Given the description of an element on the screen output the (x, y) to click on. 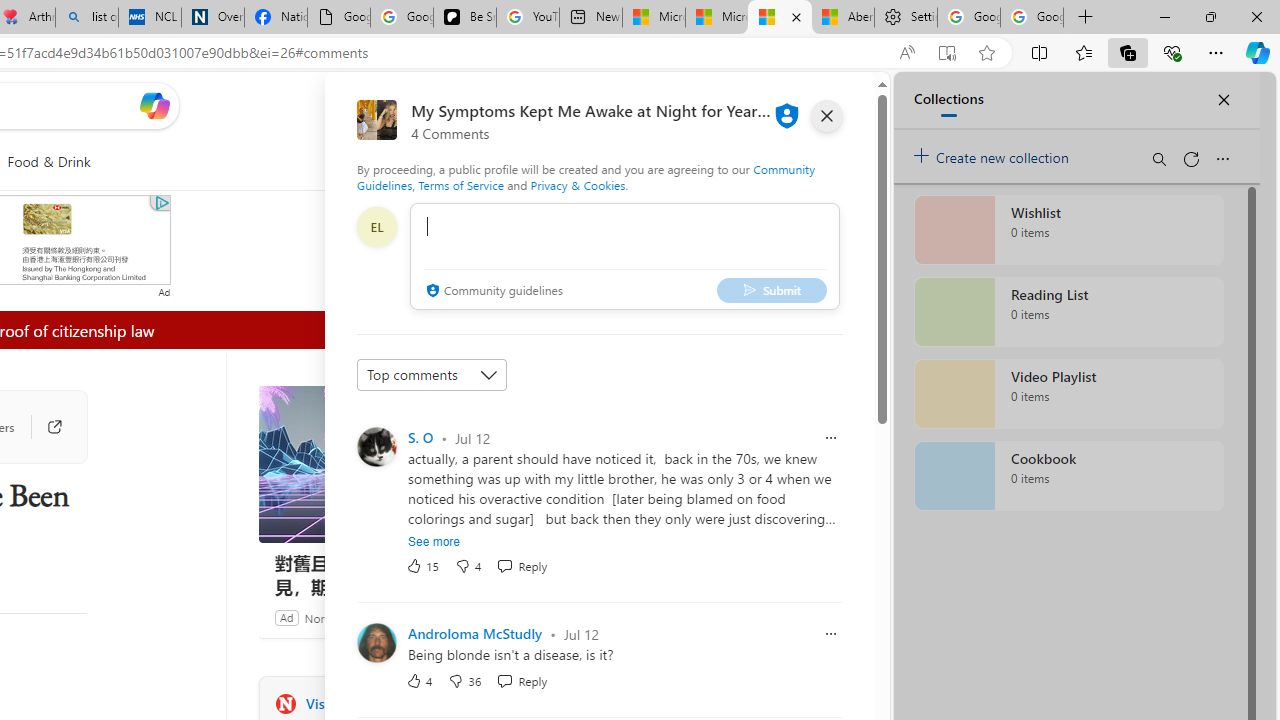
Visit Newsweek website (532, 703)
Profile Picture (376, 642)
Report comment (831, 633)
Hide (435, 329)
Profile Picture (376, 642)
4 Like (419, 680)
Submit (771, 290)
